Given the description of an element on the screen output the (x, y) to click on. 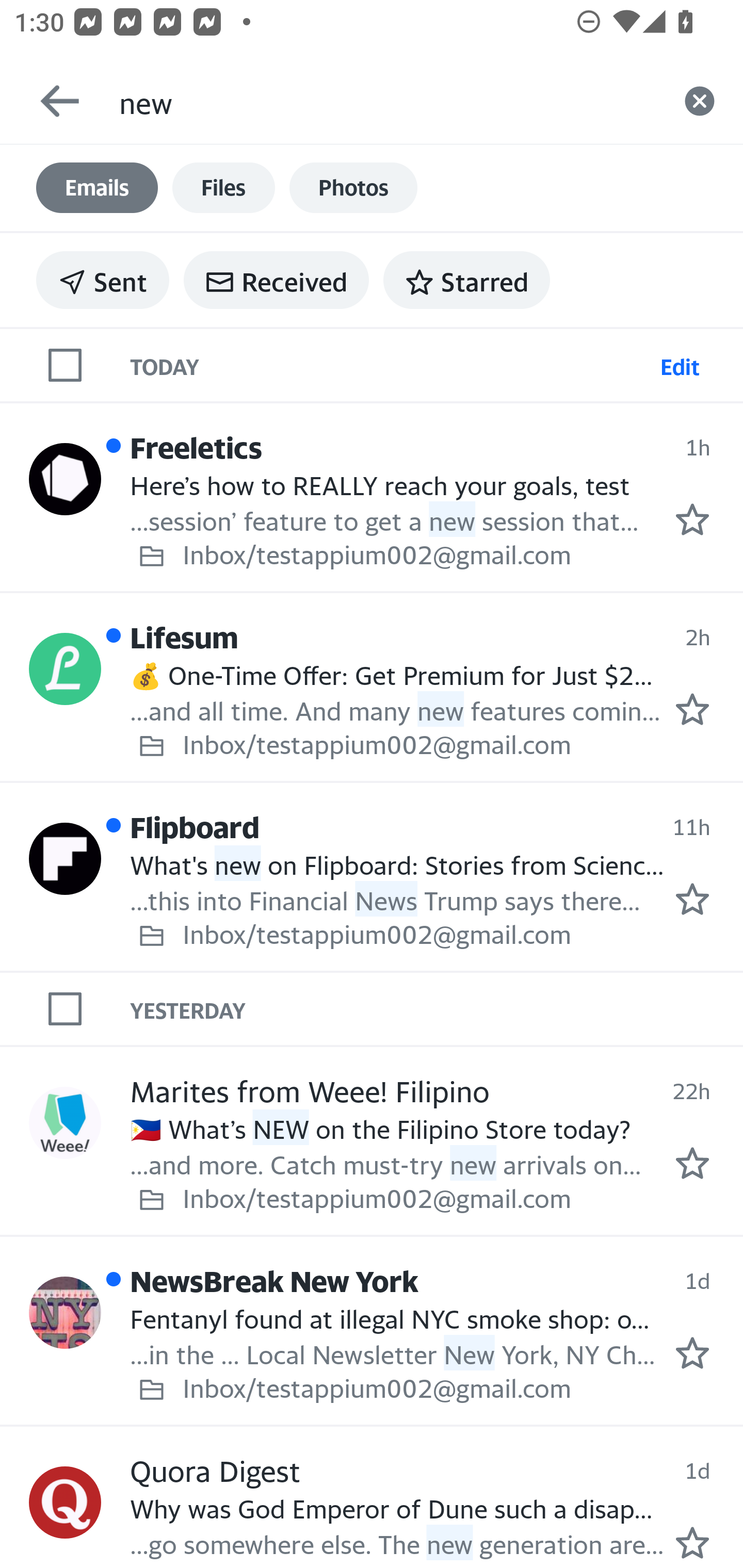
Back (50, 101)
new (387, 101)
Clear (699, 101)
Emails (96, 188)
Files (223, 188)
Photos (353, 188)
Sent (102, 279)
Received (276, 279)
Starred (466, 279)
TODAY (391, 364)
Edit Select emails (679, 364)
Profile
Freeletics (64, 479)
Mark as starred. (692, 519)
Profile
Lifesum (64, 669)
Mark as starred. (692, 709)
Profile
Flipboard (64, 859)
Mark as starred. (692, 899)
YESTERDAY (436, 1008)
Profile
Marites from Weee! Filipino (64, 1122)
Mark as starred. (692, 1162)
Profile
NewsBreak New York (64, 1312)
Mark as starred. (692, 1352)
Profile
Quora Digest (64, 1502)
Mark as starred. (692, 1542)
